Given the description of an element on the screen output the (x, y) to click on. 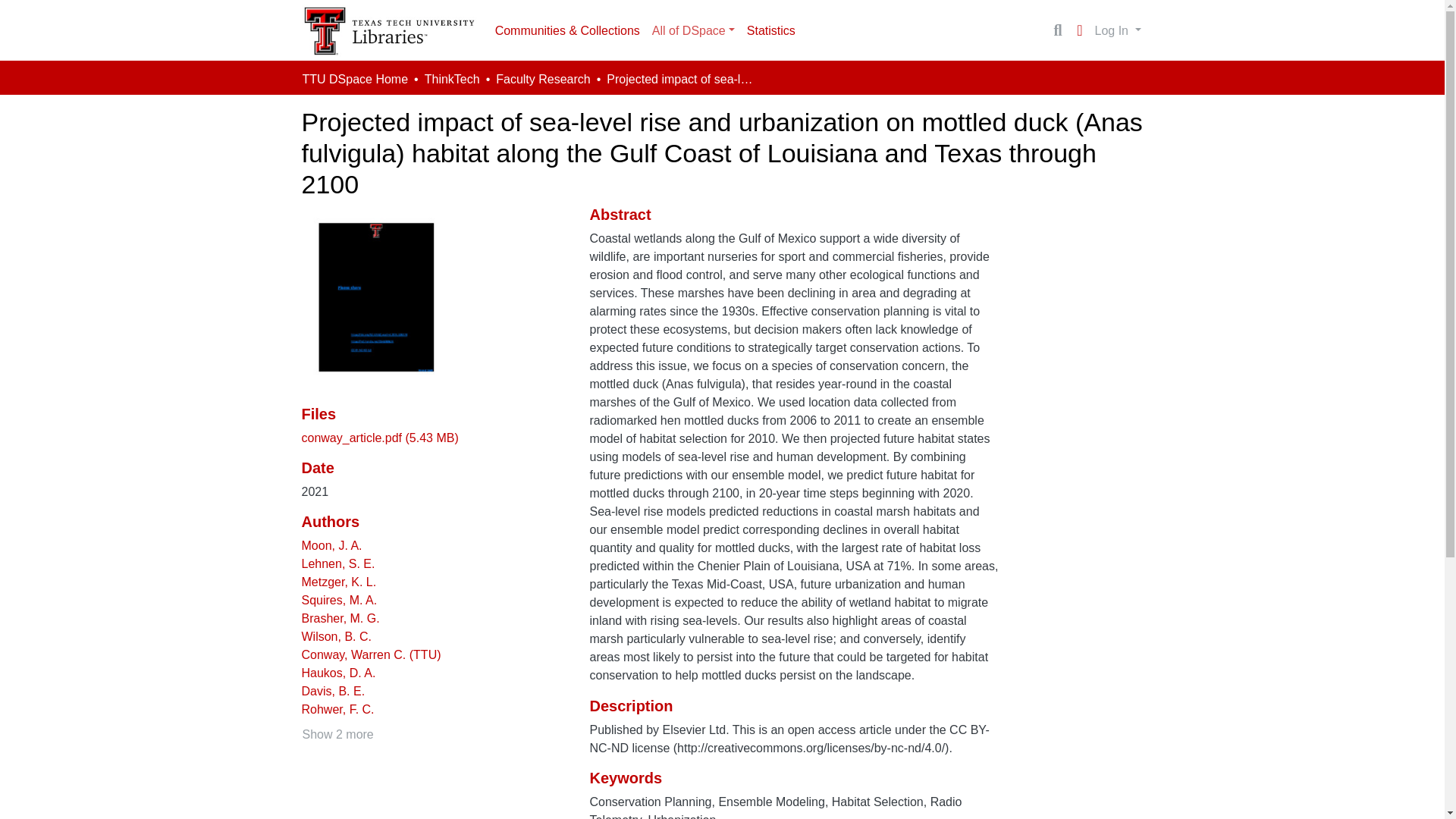
TTU DSpace Home (354, 79)
ThinkTech (452, 79)
Moon, J. A. (331, 545)
Log In (1117, 30)
Faculty Research (543, 79)
Haukos, D. A. (338, 672)
Search (1057, 30)
Davis, B. E. (333, 690)
Wilson, B. C. (336, 635)
Squires, M. A. (339, 599)
Language switch (1079, 30)
Statistics (771, 30)
Metzger, K. L. (339, 581)
Lehnen, S. E. (338, 563)
Show 2 more (337, 734)
